Given the description of an element on the screen output the (x, y) to click on. 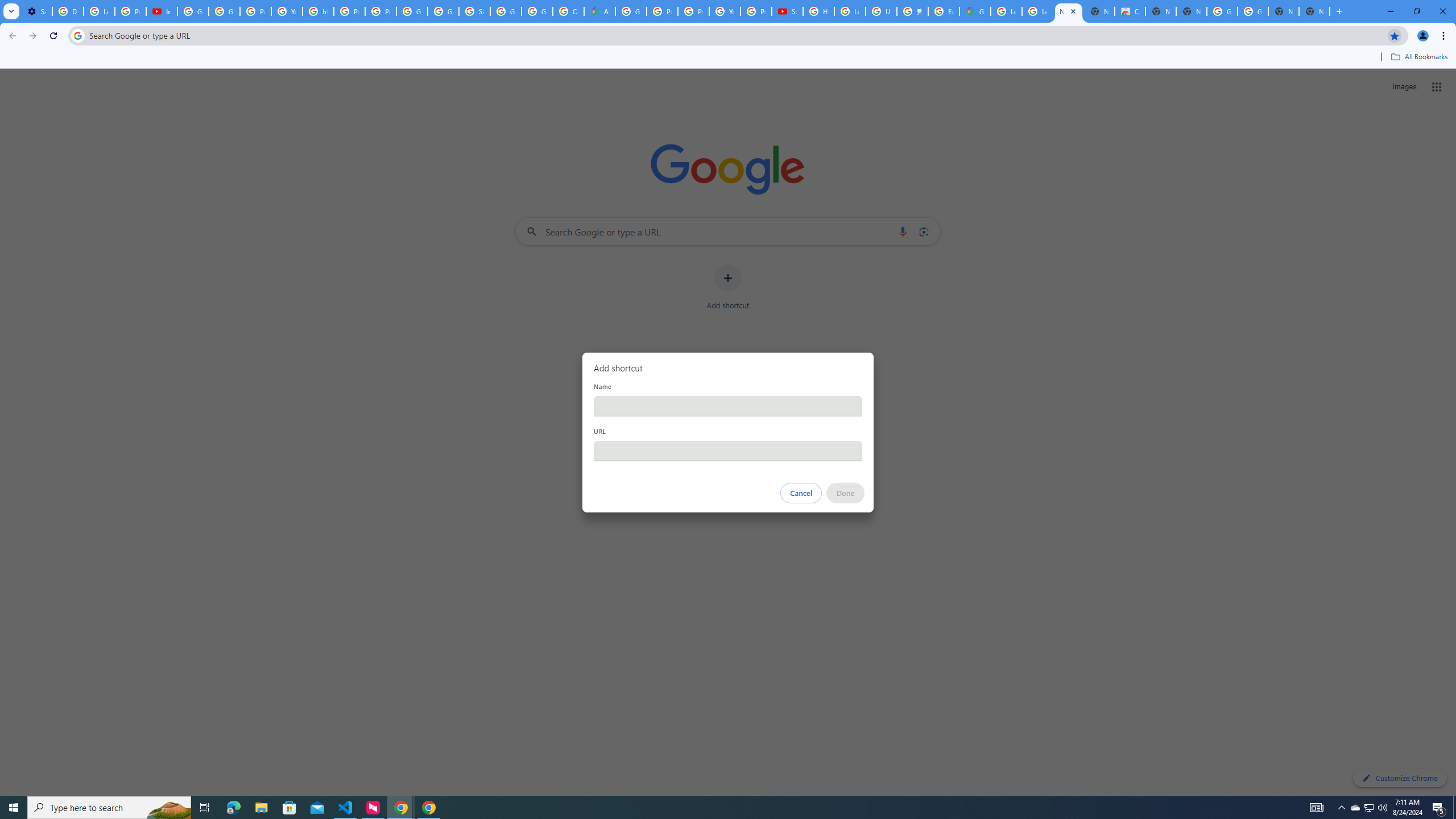
Google Account Help (223, 11)
Google Images (1252, 11)
Create your Google Account (568, 11)
Cancel (801, 493)
Google Images (1222, 11)
Bookmarks (728, 58)
